Given the description of an element on the screen output the (x, y) to click on. 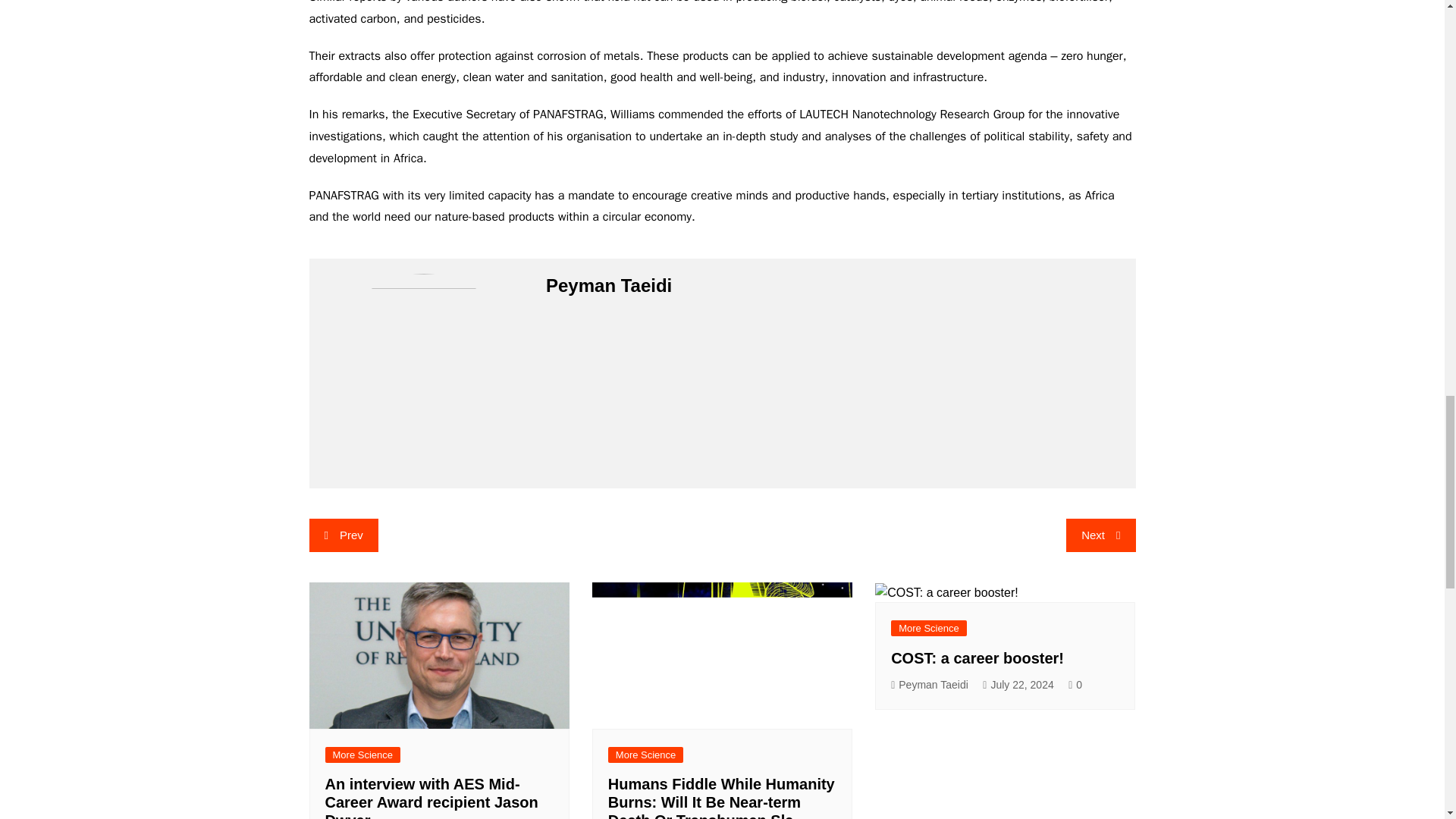
Prev (343, 535)
An interview with AES Mid-Career Award recipient Jason Dwyer (430, 797)
More Science (928, 627)
0 (1074, 684)
Next (1100, 535)
More Science (645, 754)
COST: a career booster! (977, 658)
July 22, 2024 (1017, 684)
Peyman Taeidi (929, 684)
More Science (361, 754)
